Given the description of an element on the screen output the (x, y) to click on. 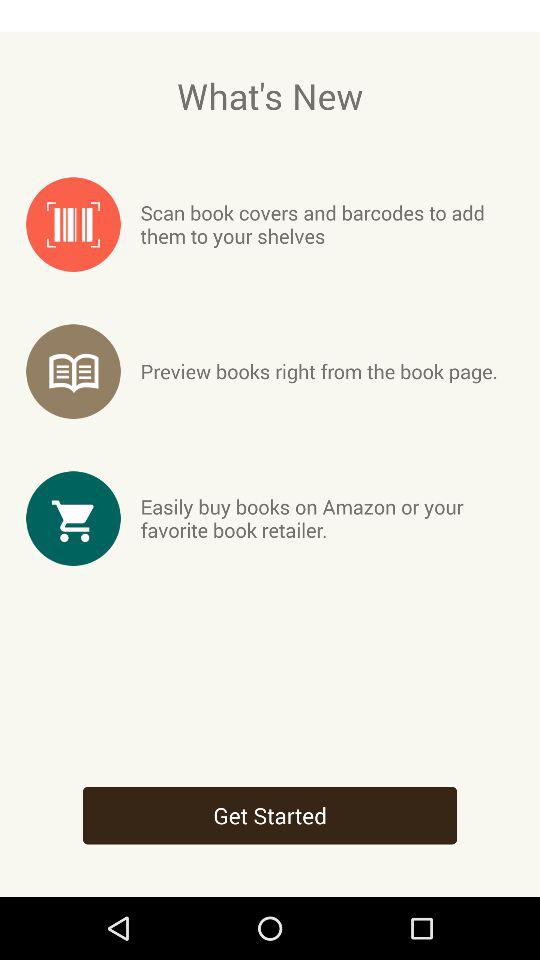
turn on the icon above the preview books right icon (326, 224)
